Given the description of an element on the screen output the (x, y) to click on. 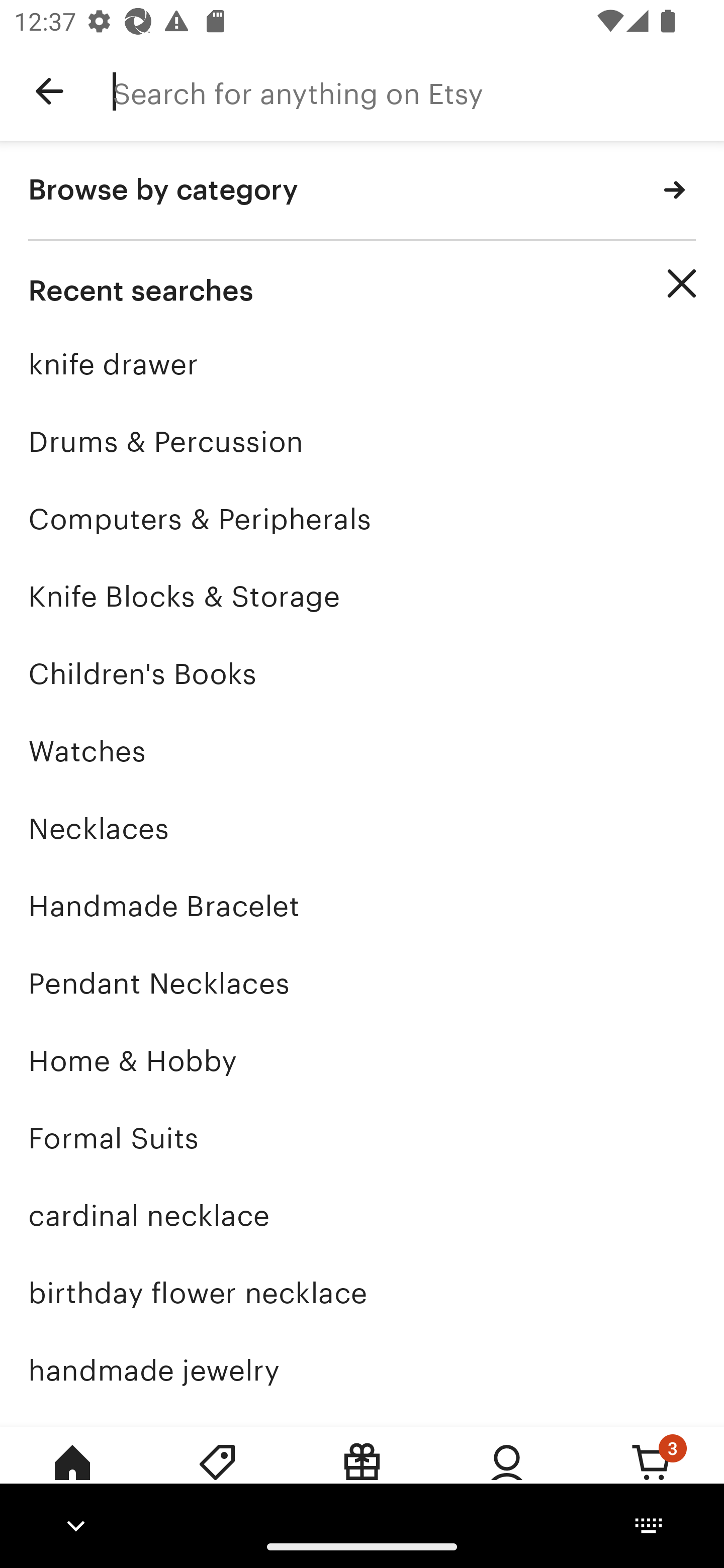
Navigate up (49, 91)
Search for anything on Etsy (418, 91)
Browse by category (362, 191)
Clear (681, 283)
knife drawer (362, 364)
Drums & Percussion (362, 440)
Computers & Peripherals (362, 518)
Knife Blocks & Storage (362, 596)
Children's Books (362, 673)
Watches (362, 750)
Necklaces (362, 828)
Handmade Bracelet (362, 906)
Pendant Necklaces (362, 983)
Home & Hobby (362, 1060)
Formal Suits (362, 1138)
cardinal necklace (362, 1215)
birthday flower necklace (362, 1292)
handmade jewelry (362, 1370)
Deals (216, 1475)
Gift Mode (361, 1475)
You (506, 1475)
Cart, 3 new notifications (651, 1475)
